Given the description of an element on the screen output the (x, y) to click on. 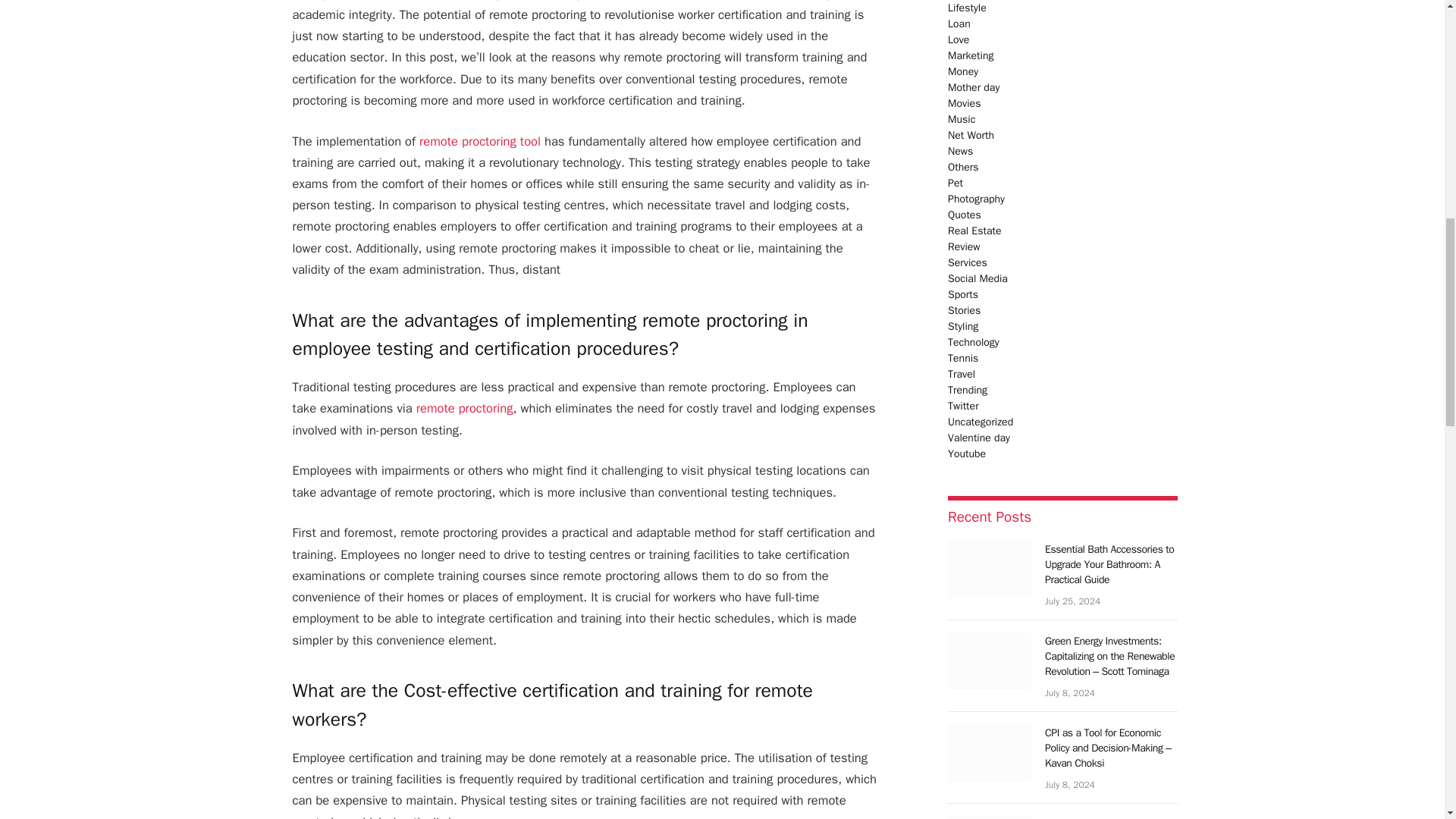
remote proctoring (464, 408)
remote proctoring tool (479, 141)
